Given the description of an element on the screen output the (x, y) to click on. 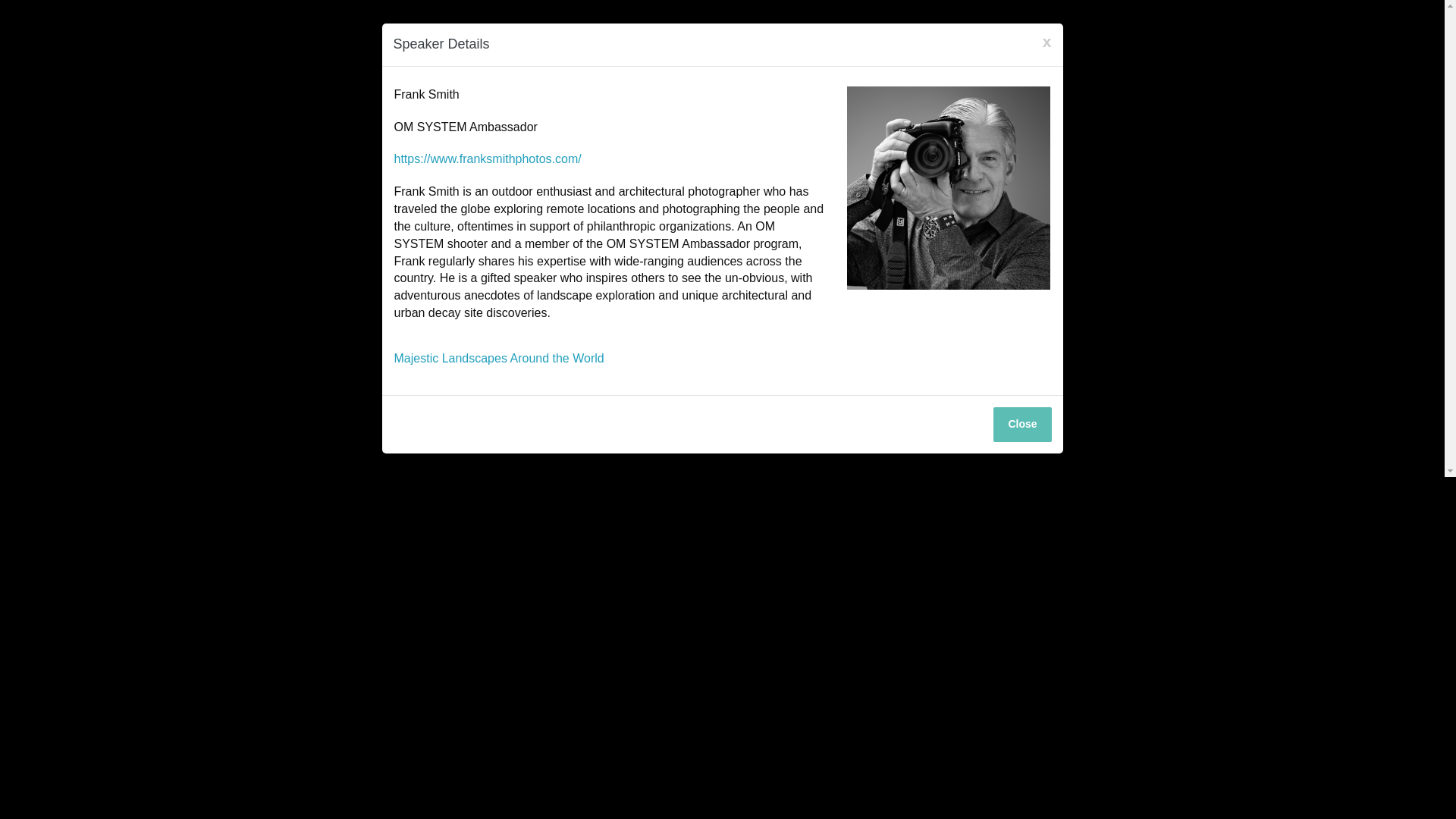
Majestic Landscapes Around the World (499, 358)
Close (1021, 424)
Session Details (499, 358)
